Given the description of an element on the screen output the (x, y) to click on. 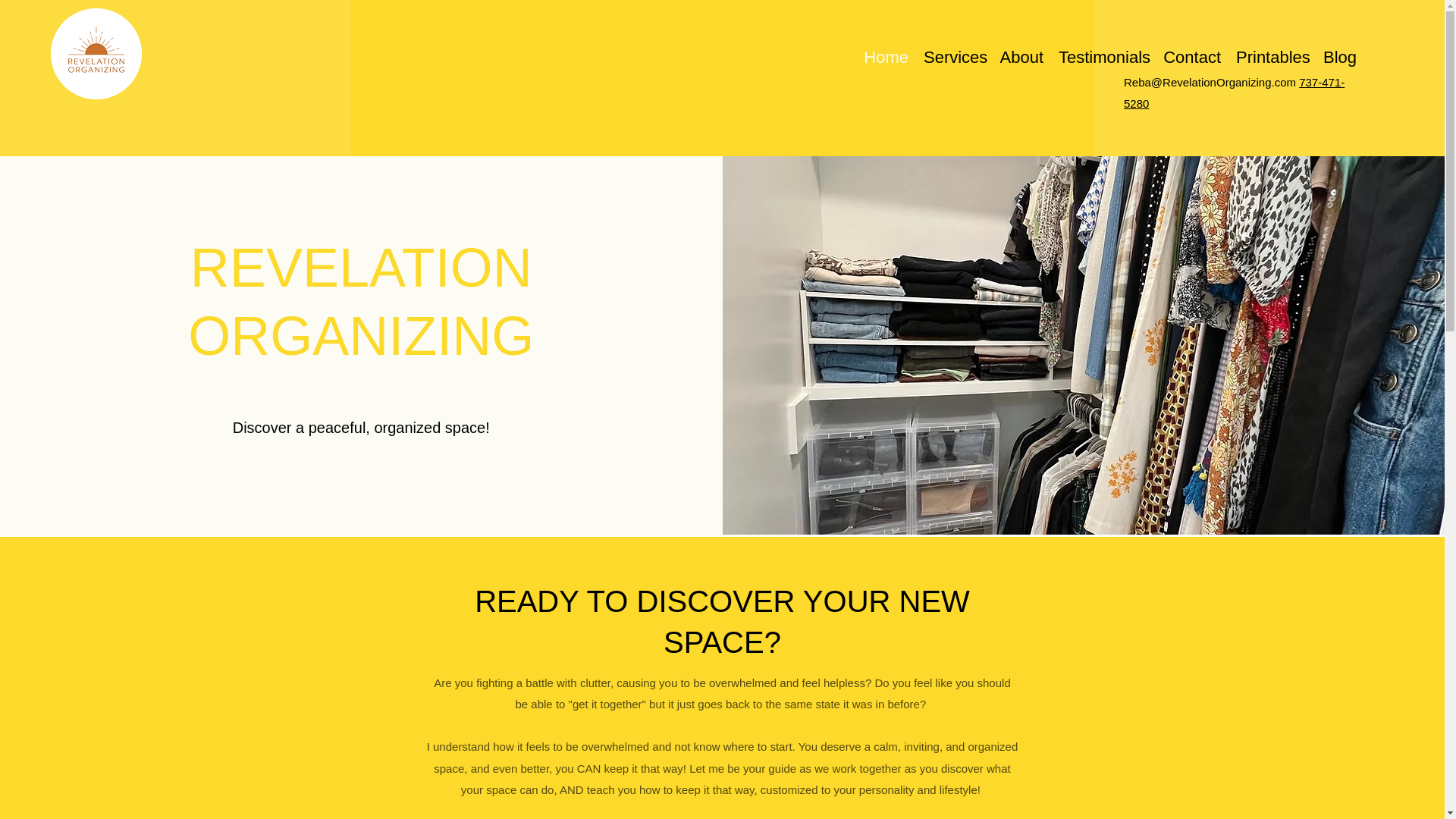
Blog (1339, 53)
About (1020, 53)
Printables (1271, 53)
Services (952, 53)
Home (885, 53)
Contact (1192, 53)
737-471-5280 (1233, 92)
Testimonials (1103, 53)
